Given the description of an element on the screen output the (x, y) to click on. 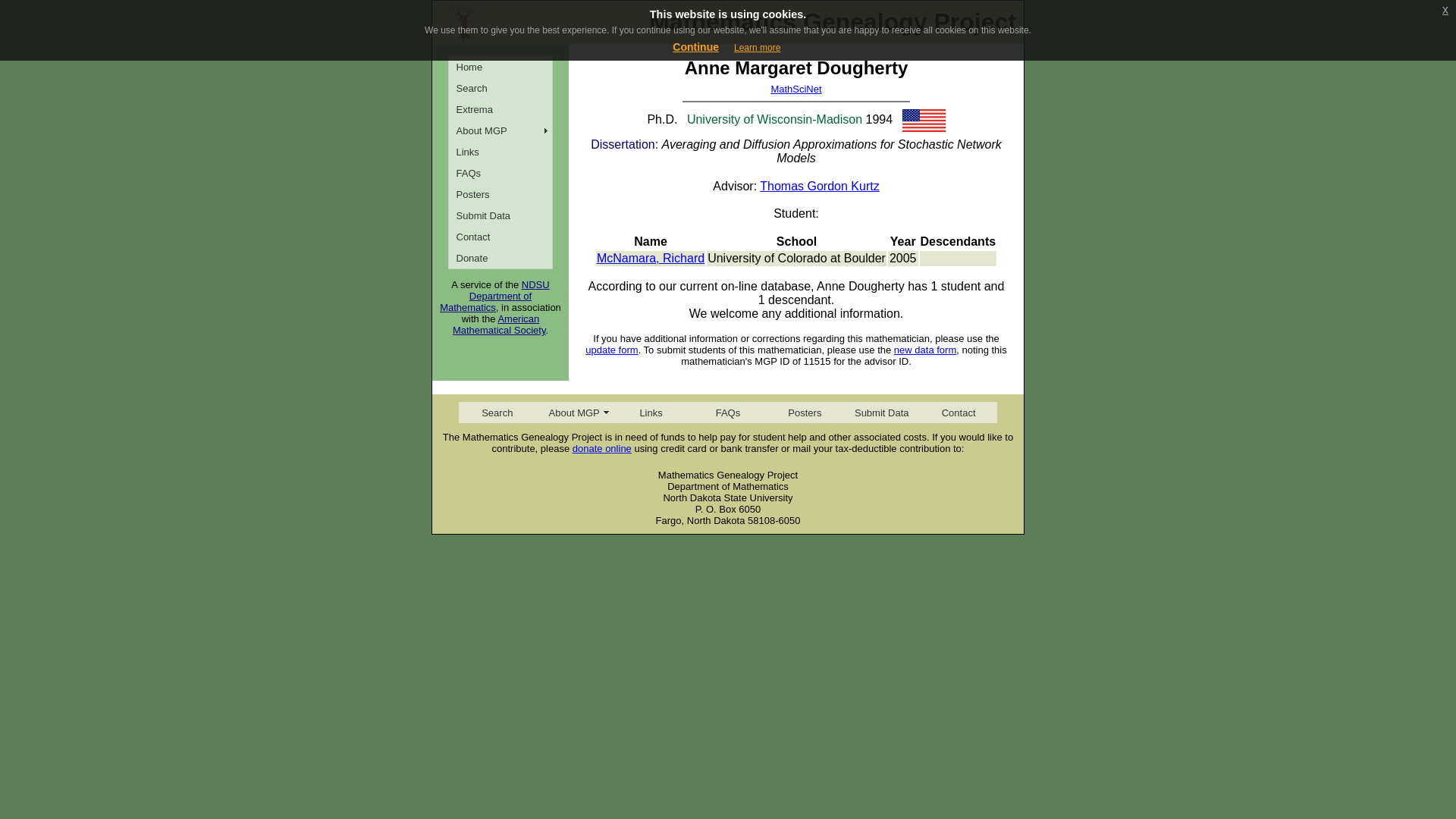
Submit Data (500, 215)
NDSU (535, 284)
Submit Data (881, 412)
FAQs (726, 412)
McNamara, Richard (650, 257)
Frequently Asked Questions (500, 172)
Links (500, 151)
Department of Mathematics (485, 301)
Continue (695, 46)
FAQs (500, 172)
